Given the description of an element on the screen output the (x, y) to click on. 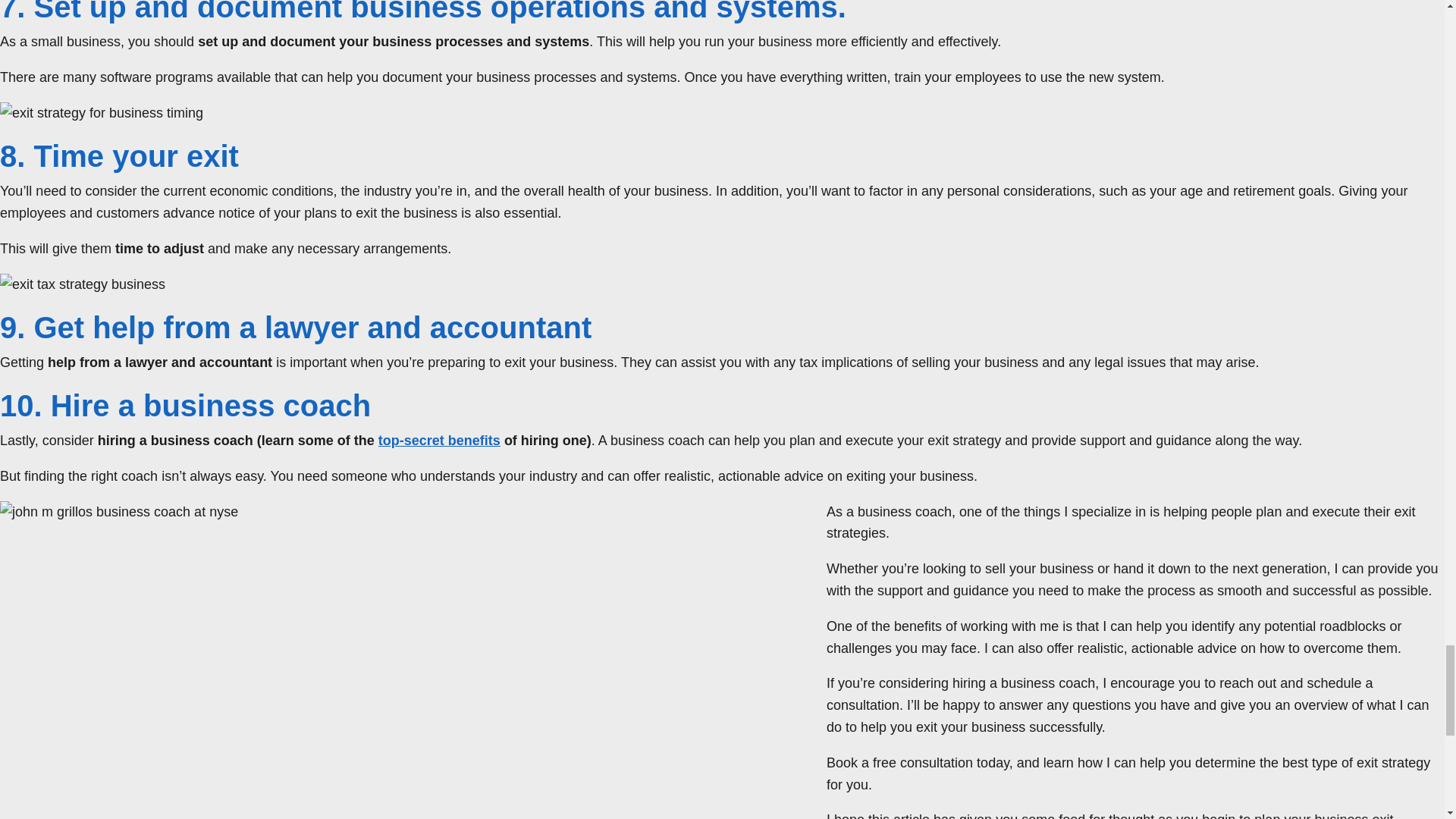
top-secret benefits (439, 440)
exit tax strategy business (82, 284)
exit strategy for business timing (101, 113)
